Given the description of an element on the screen output the (x, y) to click on. 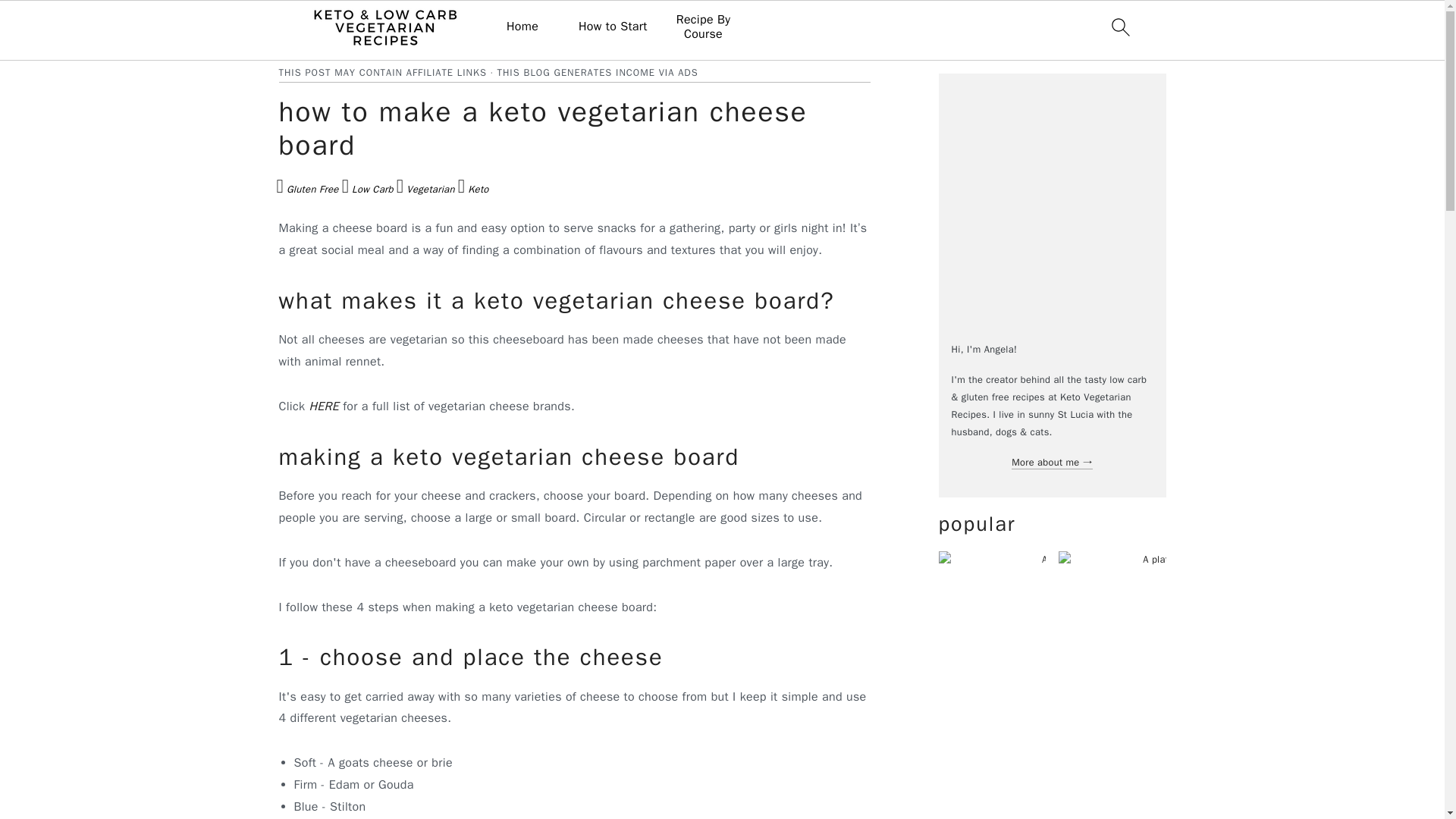
Vegetarian (425, 190)
Low Carb (367, 190)
search icon (1119, 26)
Keto (473, 190)
Gluten Free (307, 190)
